Given the description of an element on the screen output the (x, y) to click on. 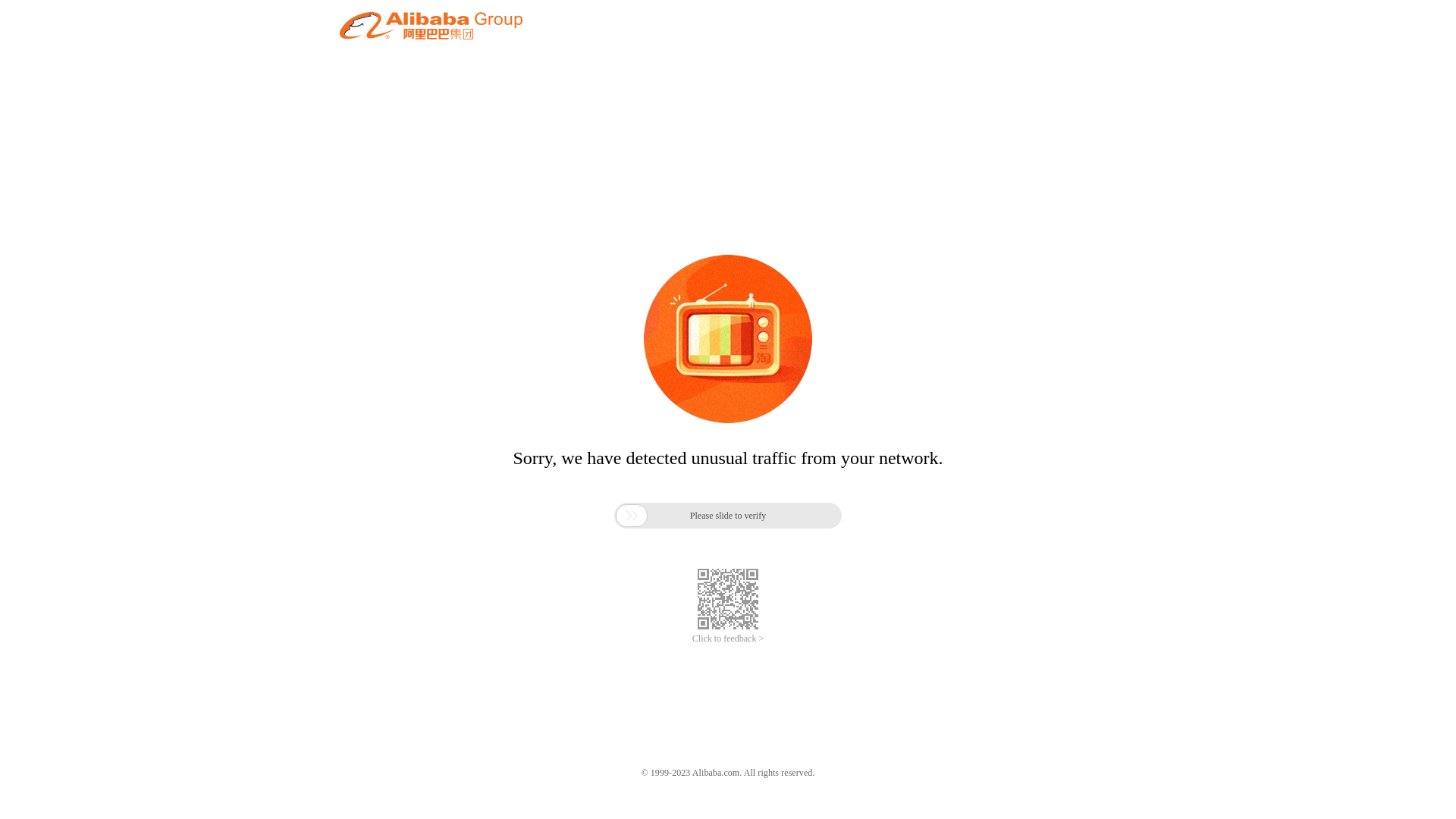
Click to feedback > Element type: text (727, 638)
